Given the description of an element on the screen output the (x, y) to click on. 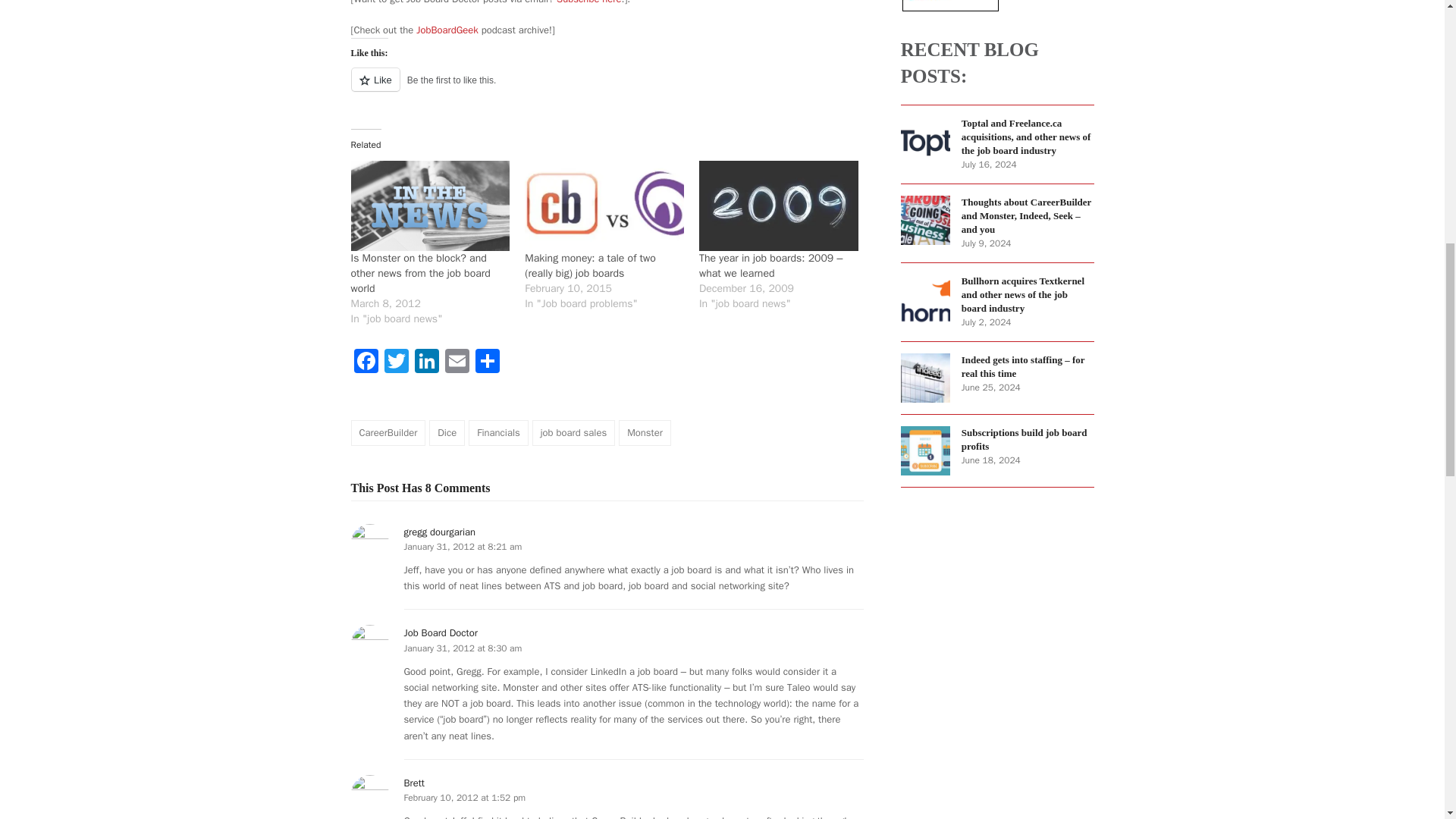
Twitter (395, 362)
Email (456, 362)
 JobBoardGeek (445, 29)
Dice (446, 432)
LinkedIn (425, 362)
Subscribe here (588, 2)
Like or Reblog (606, 87)
Facebook (365, 362)
CareerBuilder (387, 432)
Share (486, 362)
